Given the description of an element on the screen output the (x, y) to click on. 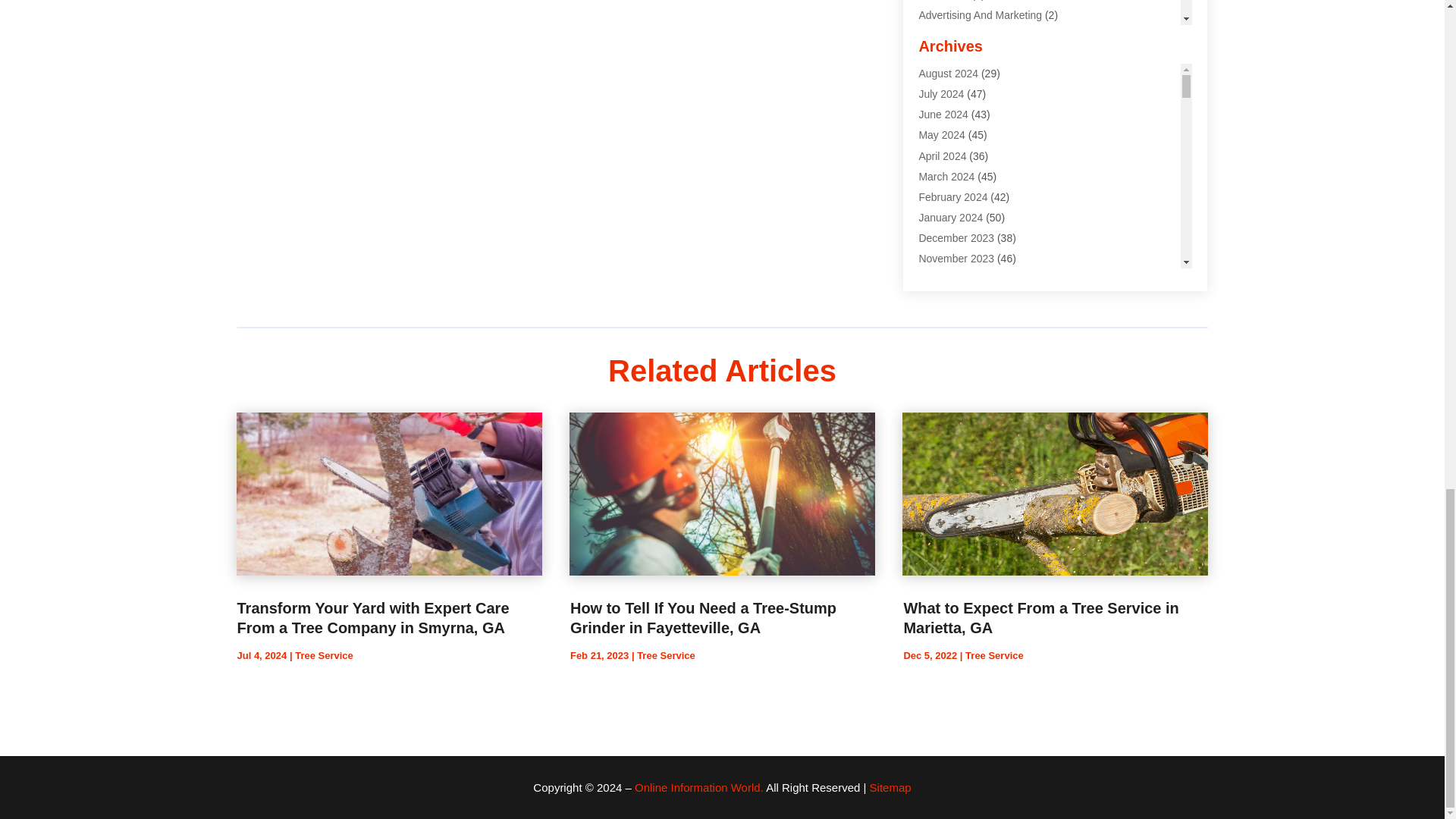
Advertising Signs (959, 36)
Agricultural Service (964, 56)
Adult Care (943, 0)
Advertising And Marketing (980, 15)
